Given the description of an element on the screen output the (x, y) to click on. 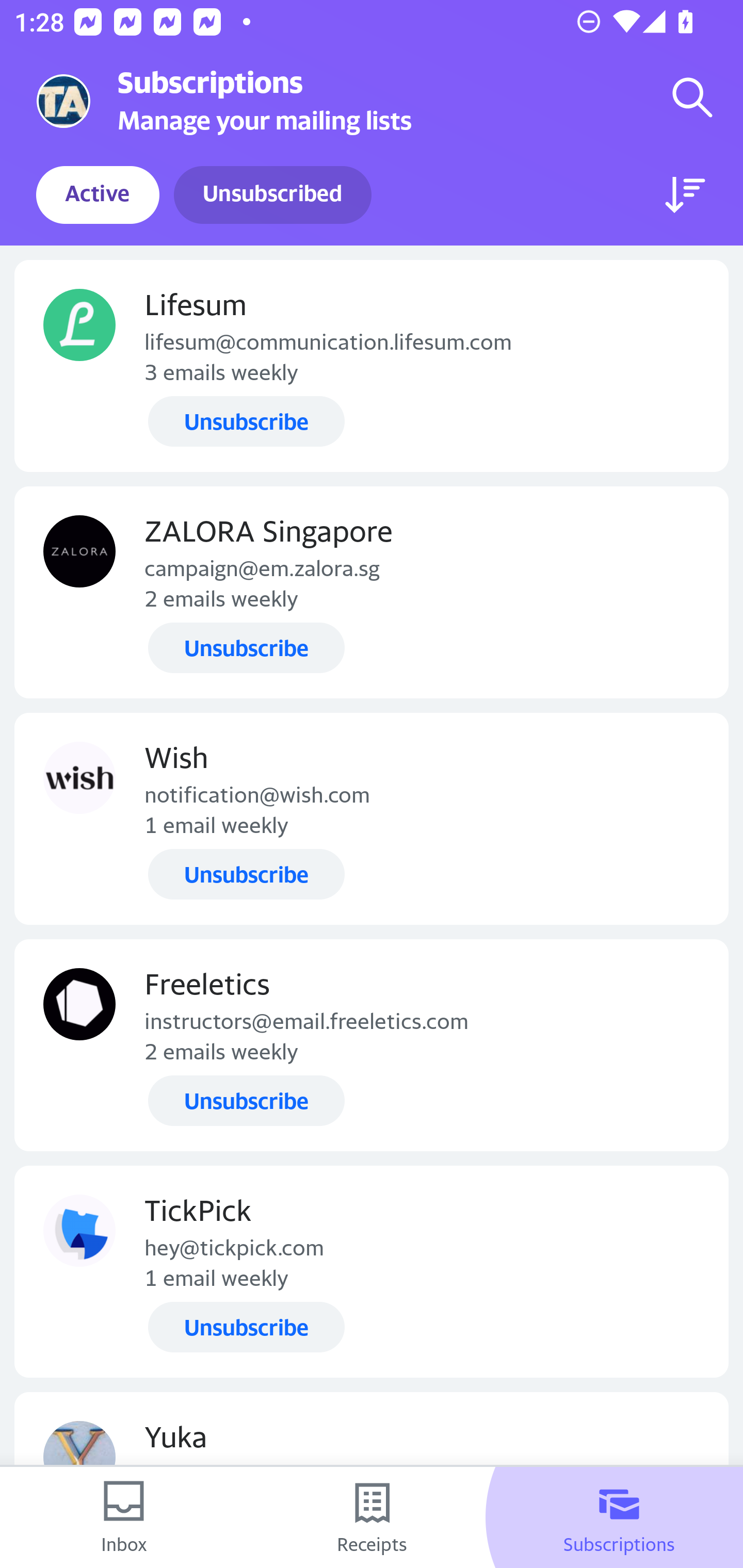
Search mail (692, 97)
Unsubscribed (272, 195)
Sort (684, 195)
Unsubscribe (245, 421)
Unsubscribe (245, 647)
Unsubscribe (245, 874)
Unsubscribe (245, 1100)
Unsubscribe (245, 1326)
Inbox (123, 1517)
Receipts (371, 1517)
Subscriptions (619, 1517)
